Given the description of an element on the screen output the (x, y) to click on. 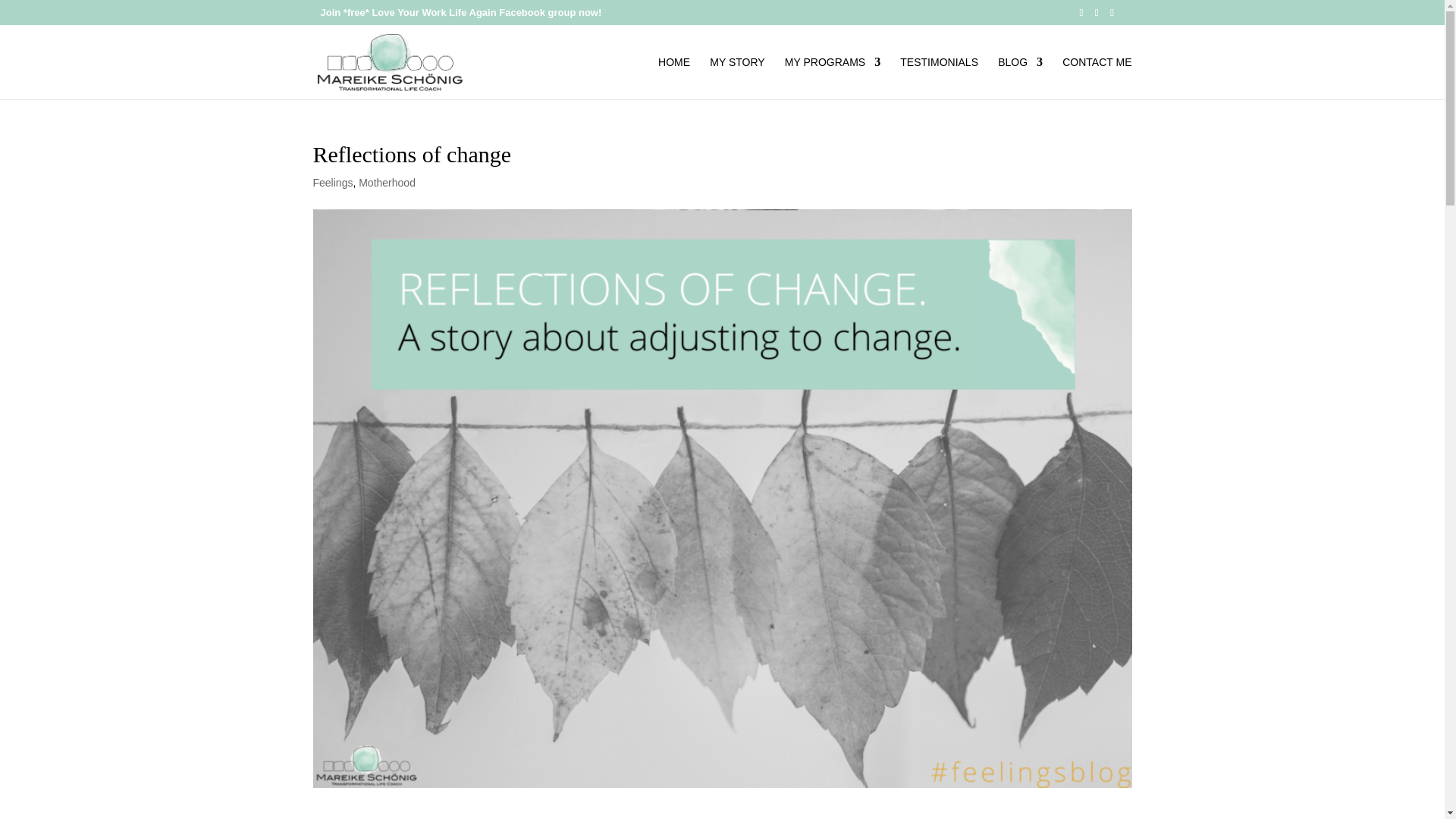
MY STORY (737, 77)
MY PROGRAMS (832, 77)
Feelings (332, 182)
TESTIMONIALS (938, 77)
CONTACT ME (1096, 77)
Motherhood (386, 182)
BLOG (1019, 77)
